Given the description of an element on the screen output the (x, y) to click on. 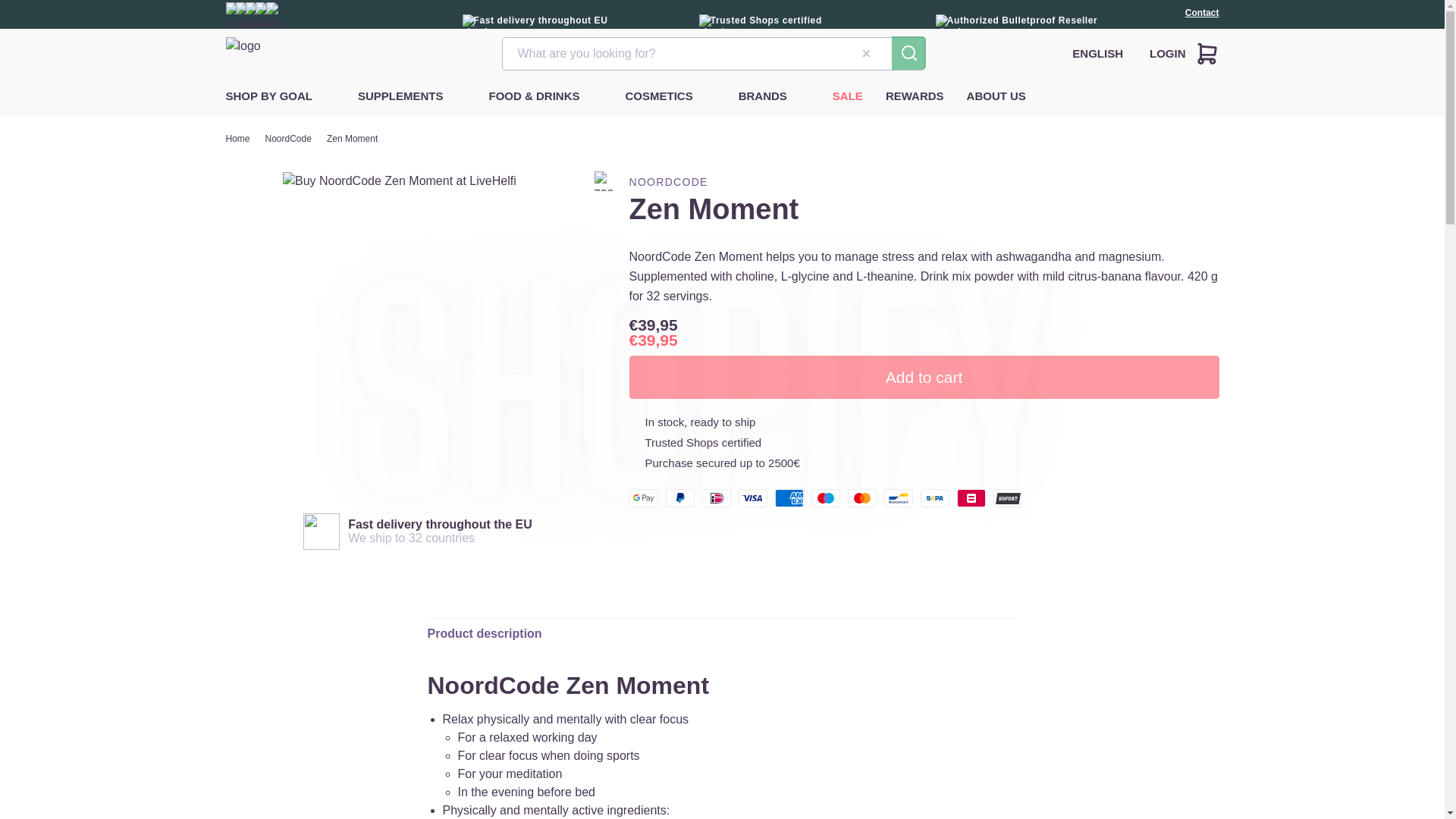
Google Pay (643, 497)
Cart (1205, 53)
PayPal (679, 497)
Contact (1202, 19)
SUPPLEMENTS (401, 96)
iDEAL (715, 497)
Skip to content (45, 17)
LOGIN (1168, 53)
SHOP BY GOAL (269, 96)
SOFORT (1007, 497)
Belfius (970, 497)
Bancontact (897, 497)
Mastercard (861, 497)
Visa (752, 497)
SEPA Bank Transfer (934, 497)
